Given the description of an element on the screen output the (x, y) to click on. 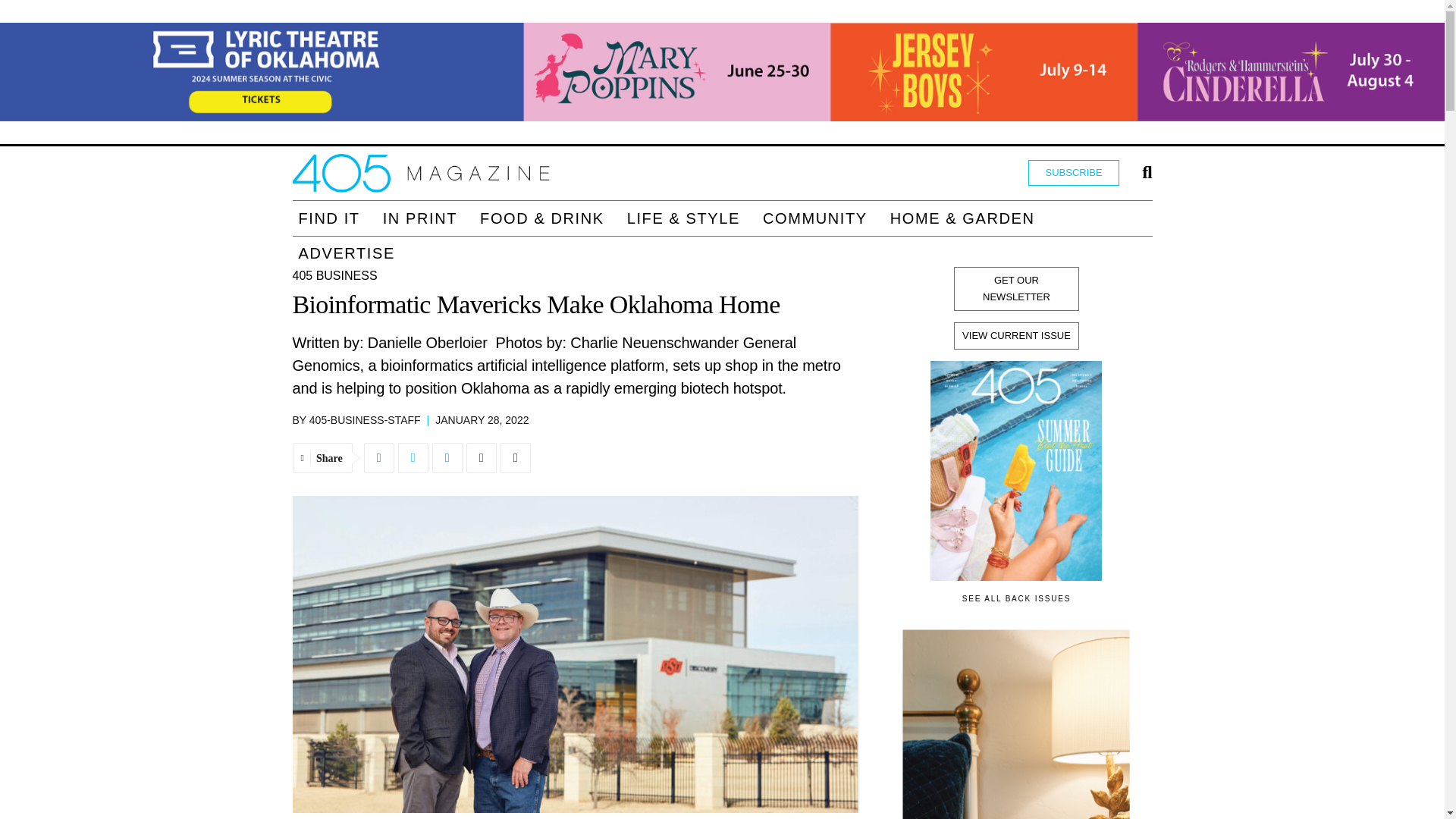
Find It (329, 217)
In Print (420, 217)
